Given the description of an element on the screen output the (x, y) to click on. 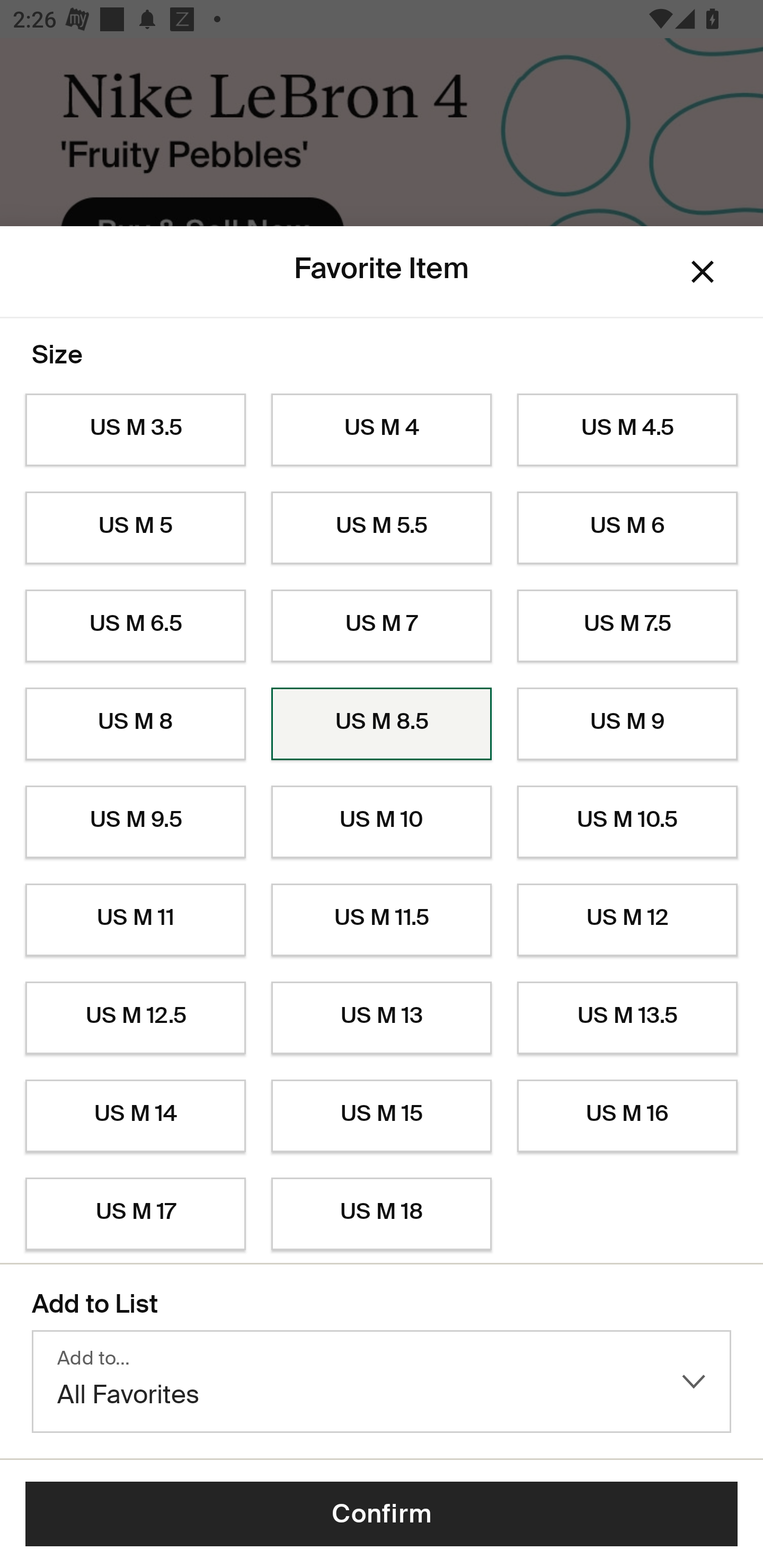
Dismiss (702, 271)
US M 3.5 (135, 430)
US M 4 (381, 430)
US M 4.5 (627, 430)
US M 5 (135, 527)
US M 5.5 (381, 527)
US M 6 (627, 527)
US M 6.5 (135, 626)
US M 7 (381, 626)
US M 7.5 (627, 626)
US M 8 (135, 724)
US M 8.5 (381, 724)
US M 9 (627, 724)
US M 9.5 (135, 822)
US M 10 (381, 822)
US M 10.5 (627, 822)
US M 11 (135, 919)
US M 11.5 (381, 919)
US M 12 (627, 919)
US M 12.5 (135, 1018)
US M 13 (381, 1018)
US M 13.5 (627, 1018)
US M 14 (135, 1116)
US M 15 (381, 1116)
US M 16 (627, 1116)
US M 17 (135, 1214)
US M 18 (381, 1214)
Add to… All Favorites (381, 1381)
Confirm (381, 1513)
